Given the description of an element on the screen output the (x, y) to click on. 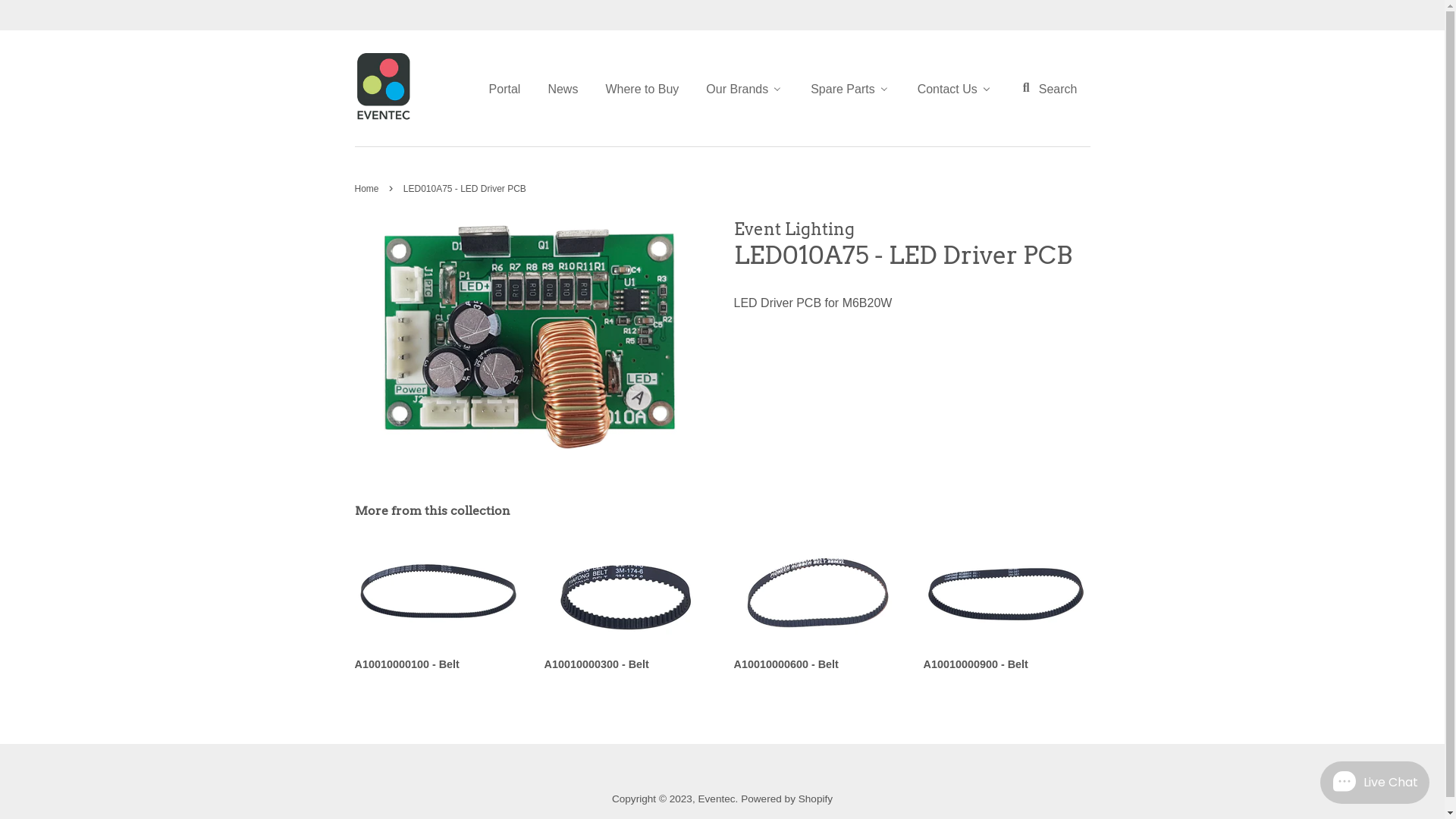
Contact Us Element type: text (954, 87)
Home Element type: text (368, 188)
A10010000100 - Belt
Regular price Element type: text (437, 617)
Powered by Shopify Element type: text (786, 798)
Eventec Element type: text (715, 798)
Search Element type: text (1047, 87)
A10010000600 - Belt
Regular price Element type: text (817, 617)
Portal Element type: text (509, 87)
Spare Parts Element type: text (849, 87)
News Element type: text (561, 87)
A10010000900 - Belt
Regular price Element type: text (1006, 617)
A10010000300 - Belt
Regular price Element type: text (627, 617)
Where to Buy Element type: text (640, 87)
Our Brands Element type: text (743, 87)
